Given the description of an element on the screen output the (x, y) to click on. 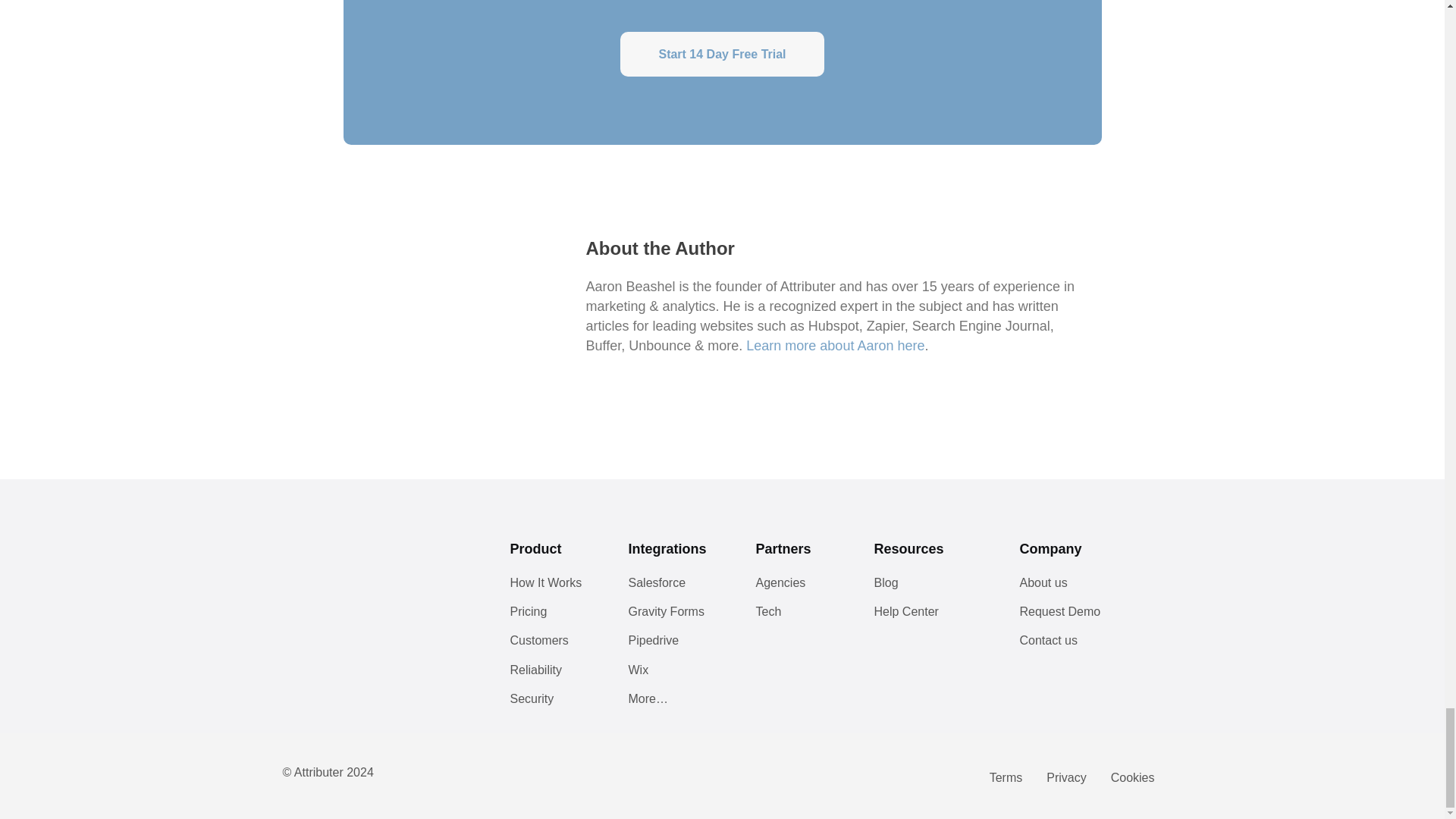
Request Demo (1076, 616)
Help Center (930, 616)
Salesforce (676, 587)
Customers (552, 645)
Pipedrive (676, 645)
Pricing (552, 616)
About us (1076, 587)
How It Works (552, 587)
Agencies (799, 587)
Reliability (552, 674)
Learn more about Aaron here (834, 345)
Gravity Forms (676, 616)
Blog (930, 587)
Black Logo (339, 553)
Security (552, 704)
